Given the description of an element on the screen output the (x, y) to click on. 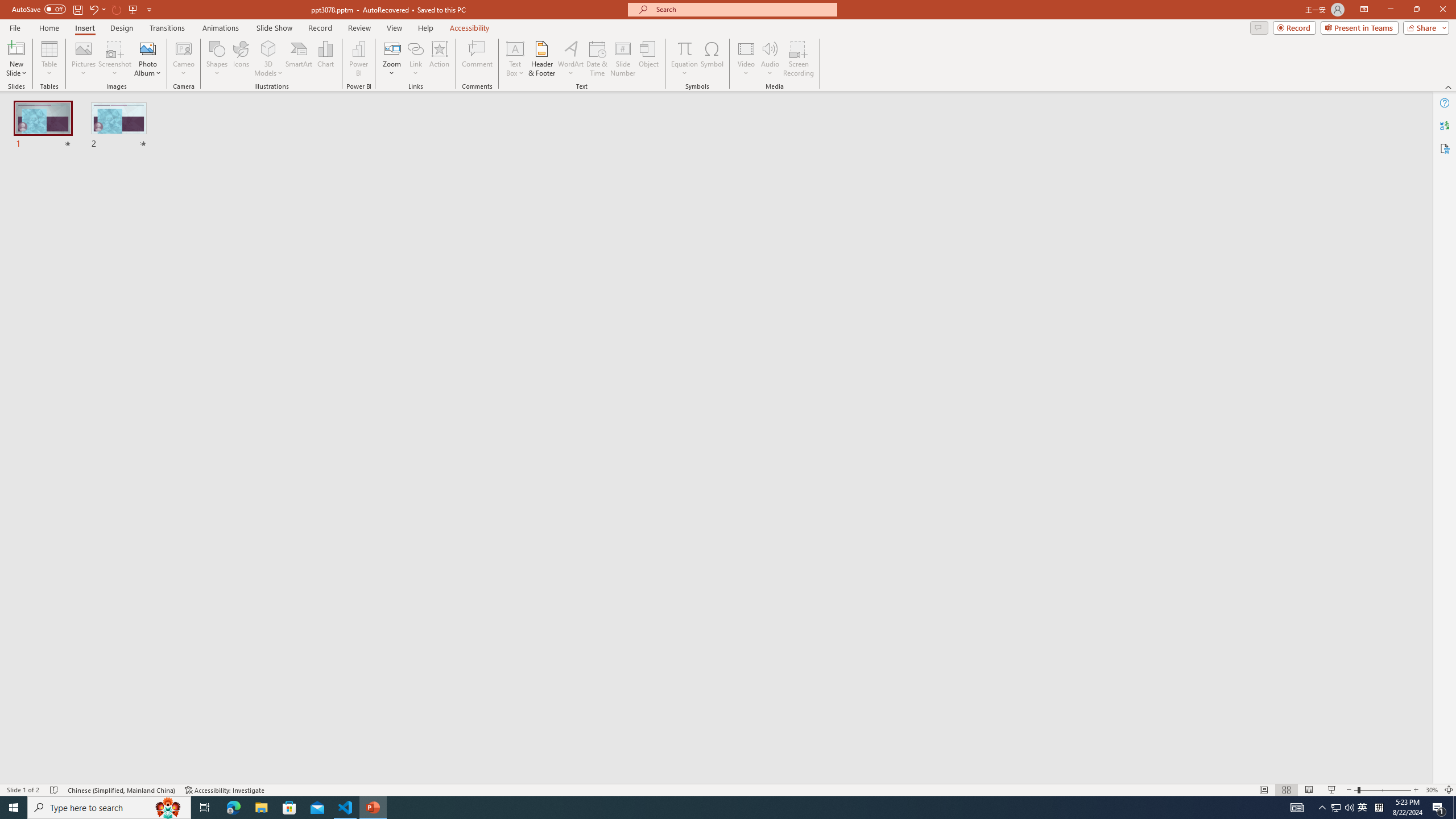
Screen Recording... (798, 58)
